Given the description of an element on the screen output the (x, y) to click on. 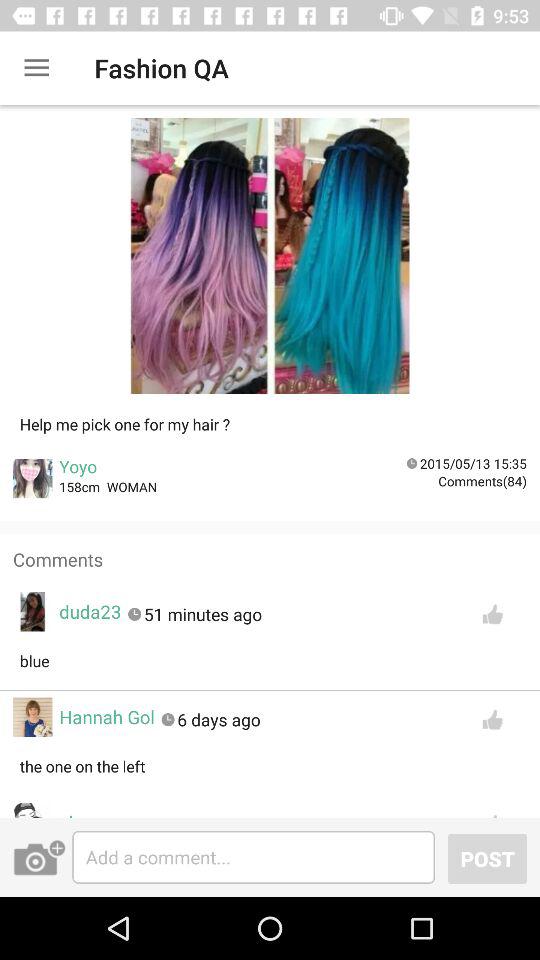
select image (269, 262)
